Given the description of an element on the screen output the (x, y) to click on. 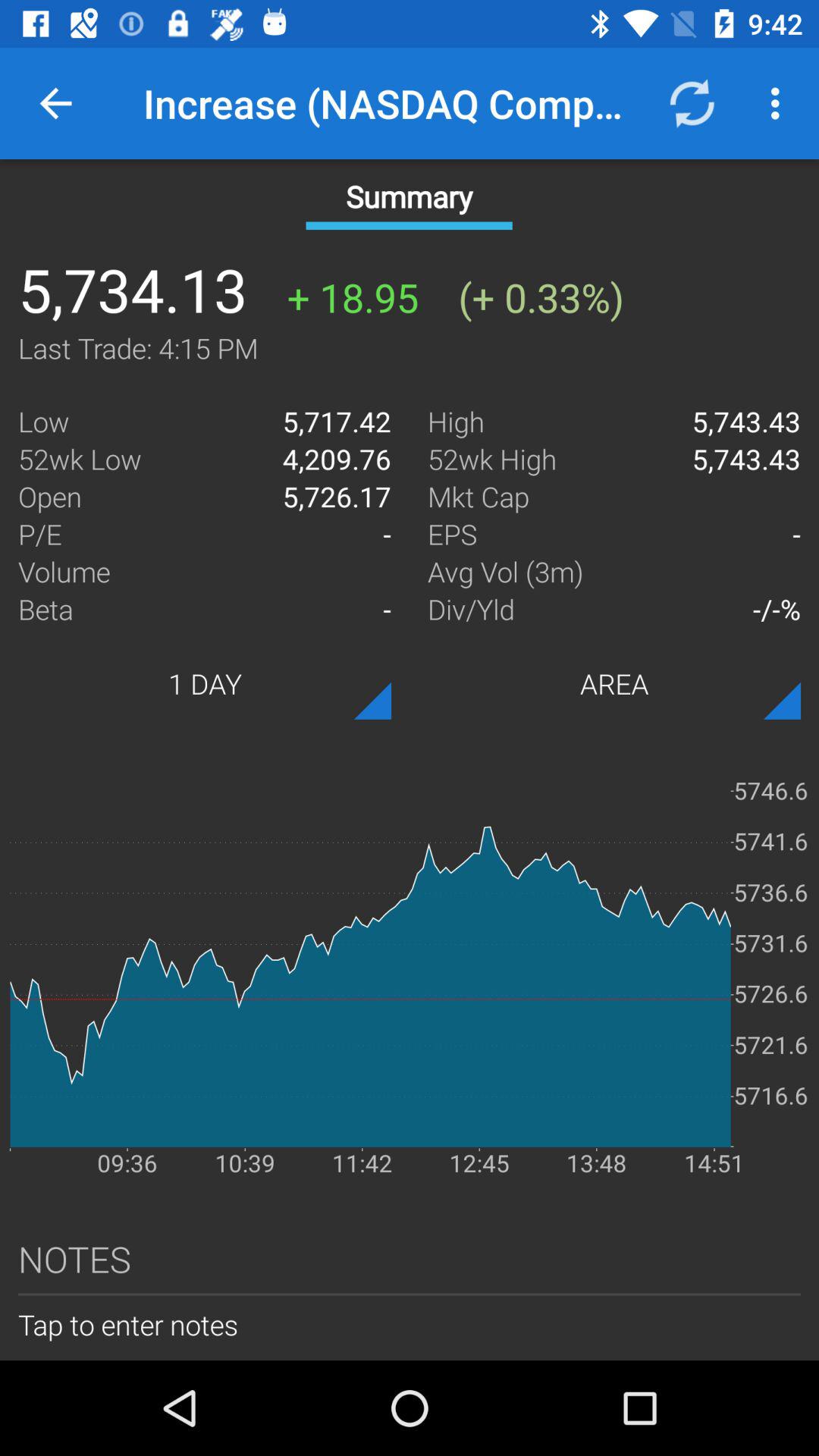
select the icon next to the 1 day (613, 683)
